Given the description of an element on the screen output the (x, y) to click on. 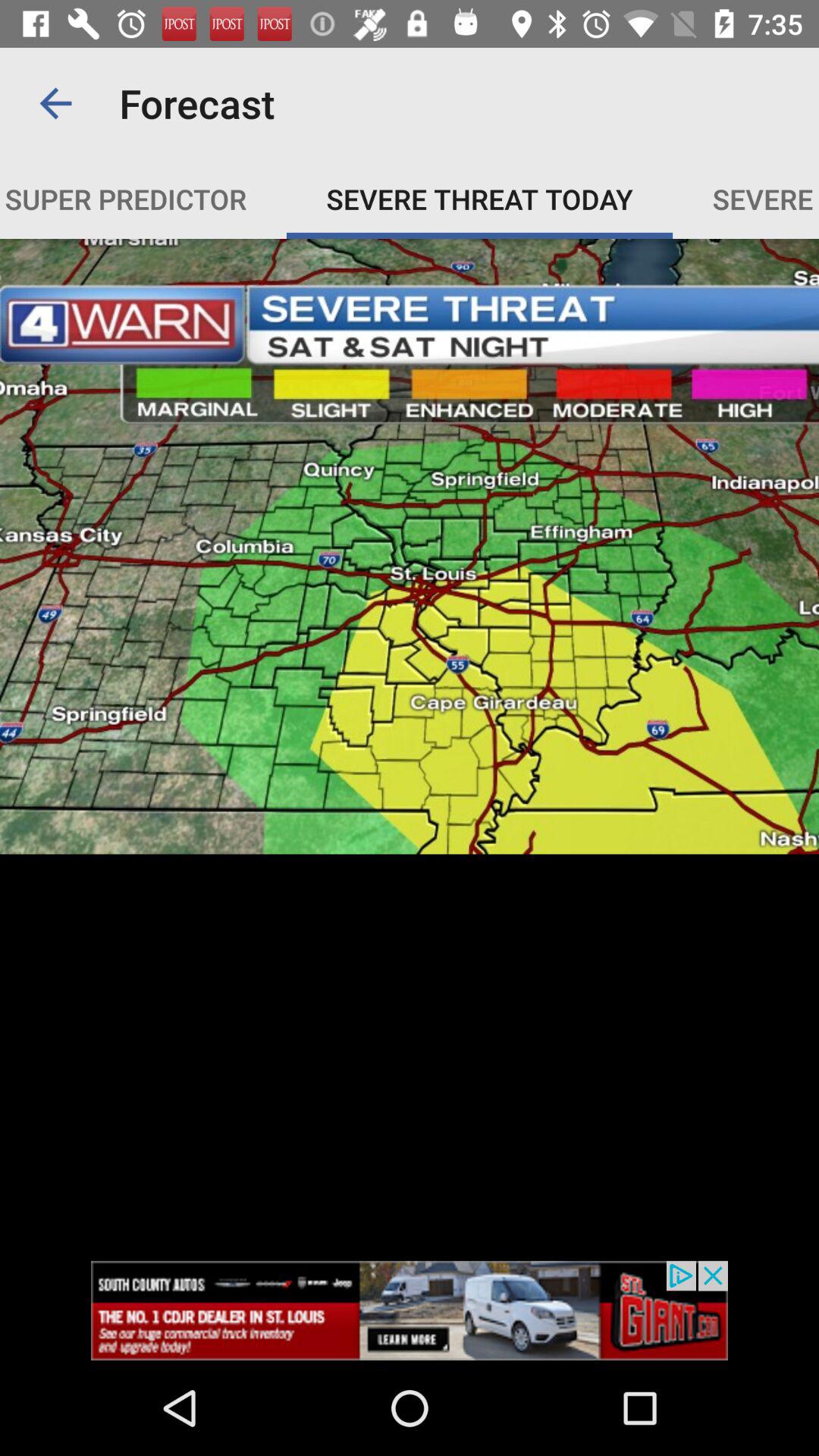
open (409, 1310)
